Given the description of an element on the screen output the (x, y) to click on. 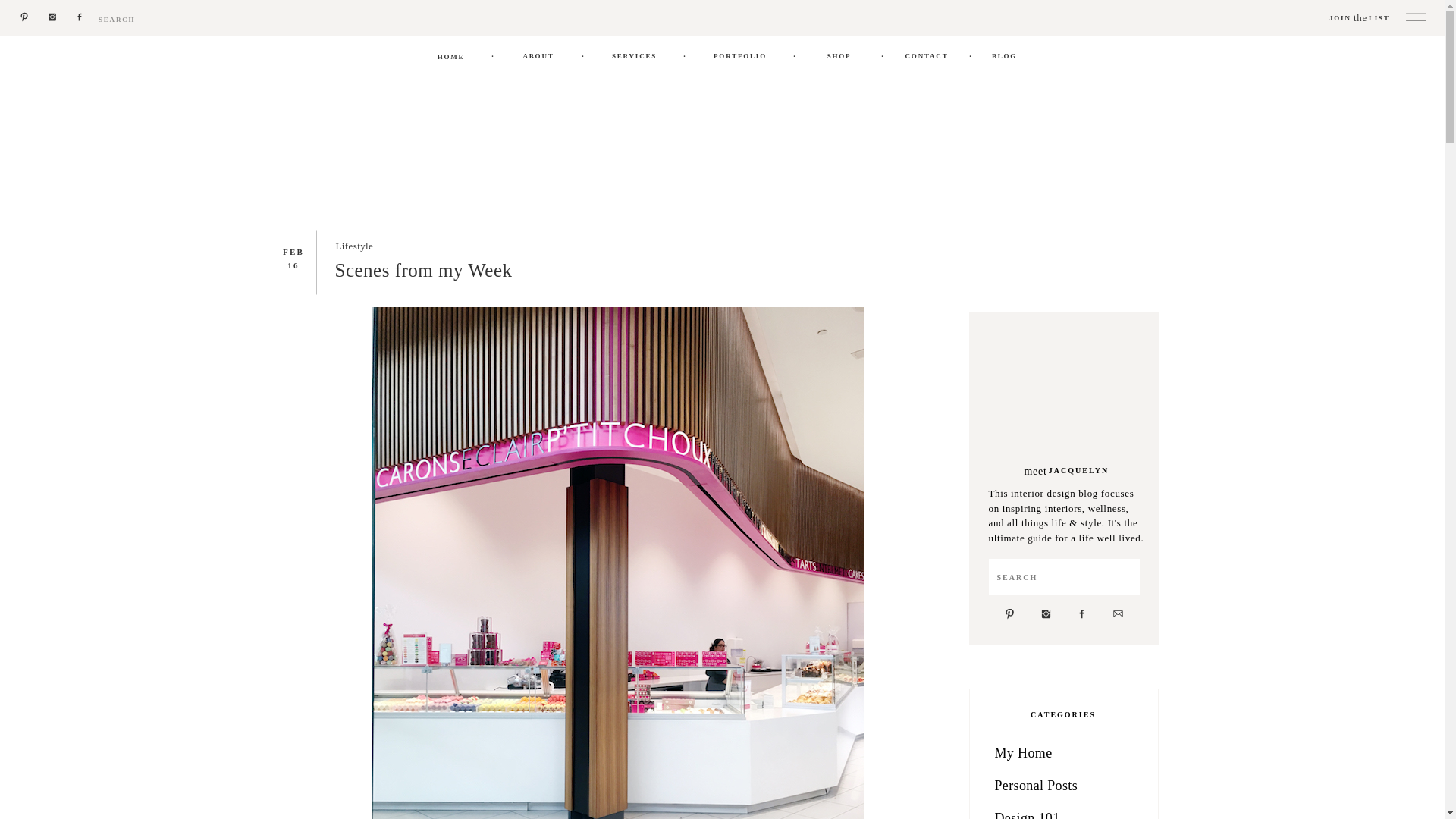
LIST (1380, 19)
. (582, 53)
JOIN (1361, 19)
. (493, 53)
. (684, 53)
PORTFOLIO (740, 56)
LIST (1380, 19)
ABOUT (537, 56)
JOIN (1361, 19)
JOIN (1361, 19)
. (882, 53)
LIST (1380, 19)
CONTACT (926, 56)
SHOP (838, 56)
the (1360, 17)
